Given the description of an element on the screen output the (x, y) to click on. 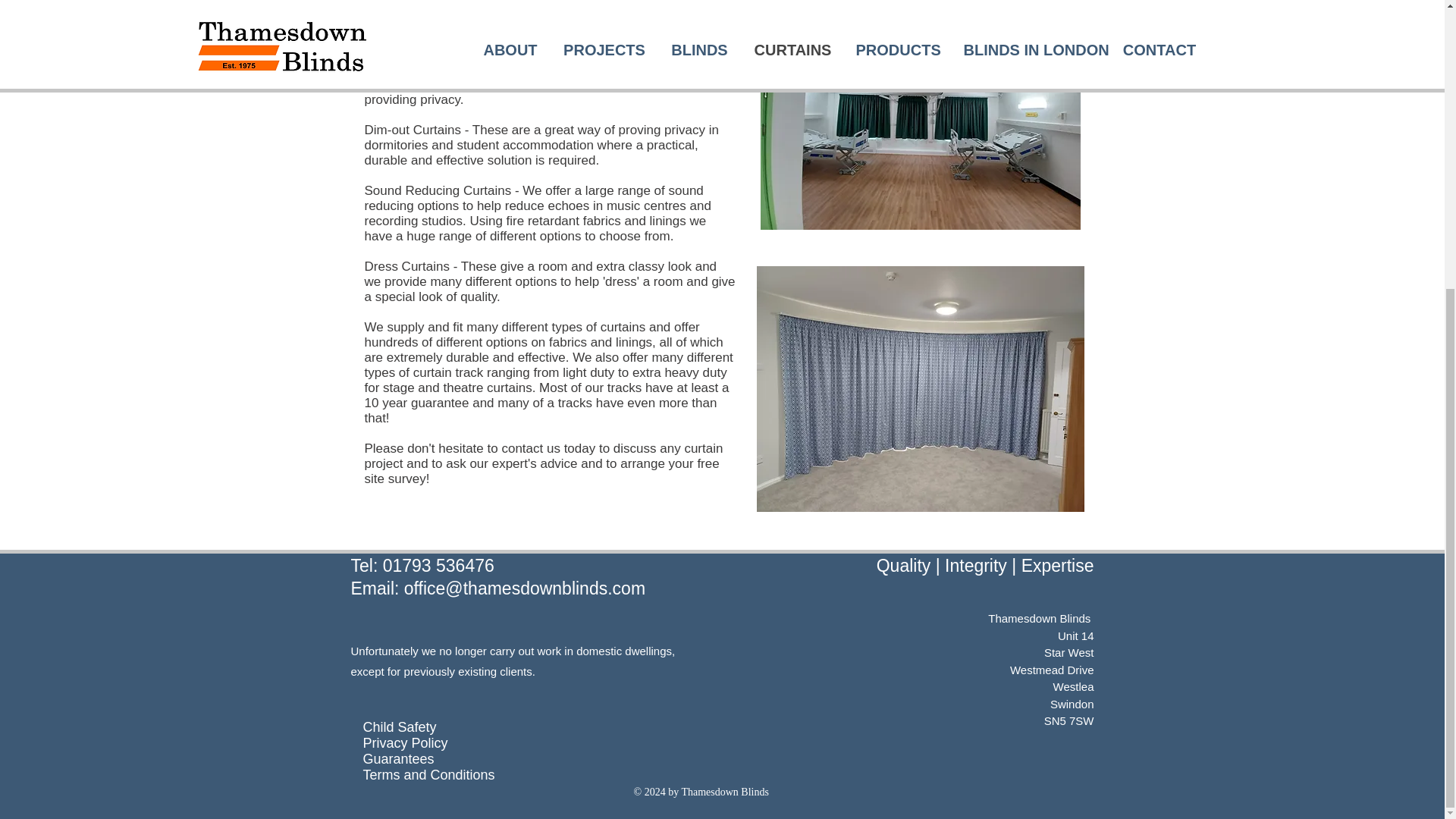
Guarantees (397, 758)
Terms and Conditions (428, 774)
Privacy Policy (404, 743)
Child Safety (398, 726)
